Given the description of an element on the screen output the (x, y) to click on. 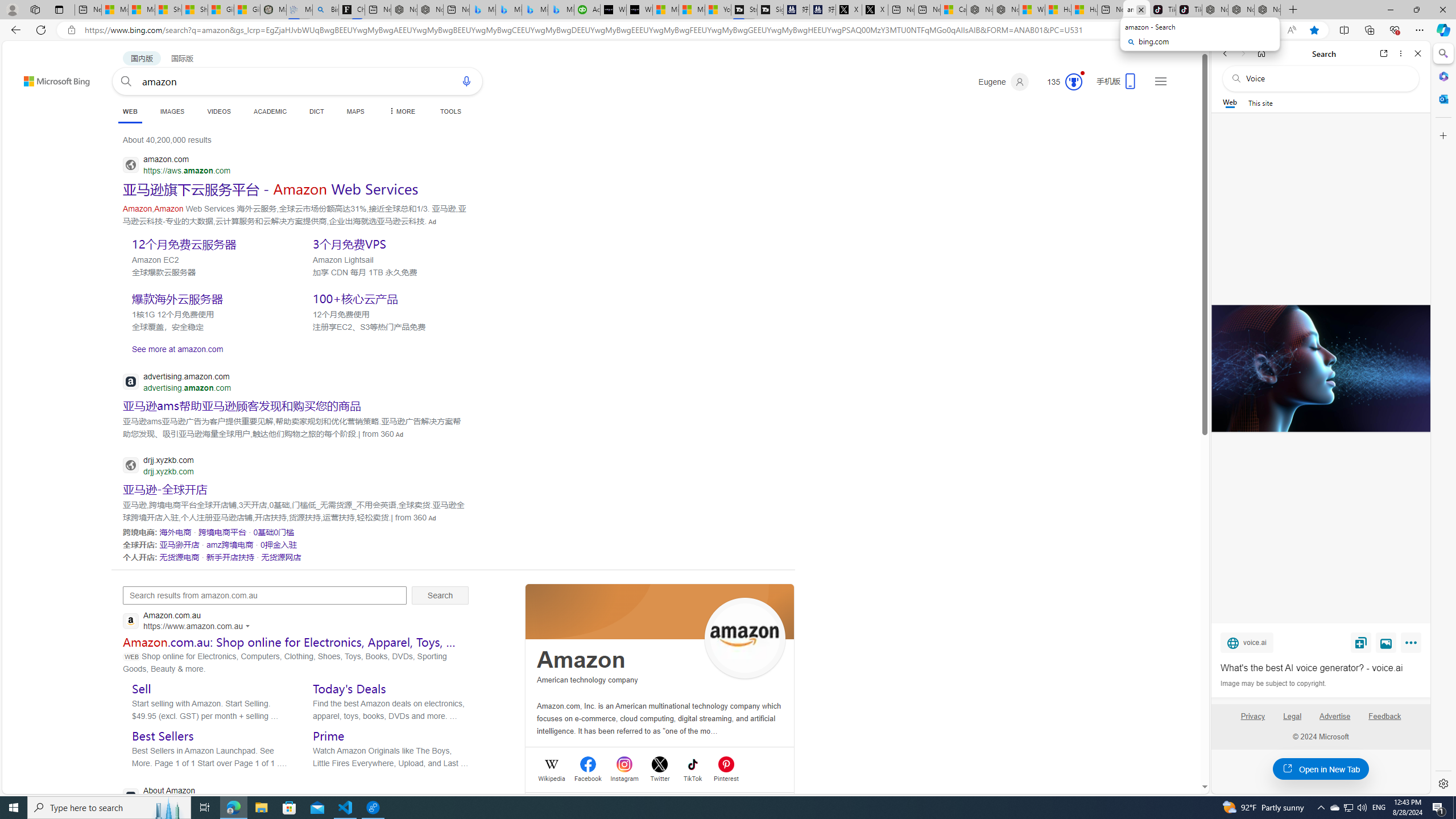
Legal (1291, 715)
Nordace Siena Pro 15 Backpack (1241, 9)
amazon - Search (1136, 9)
Side bar (1443, 418)
SERP,5550 (207, 243)
Customize (1442, 135)
More (1413, 644)
WEB (129, 112)
SERP,5574 (280, 556)
